Given the description of an element on the screen output the (x, y) to click on. 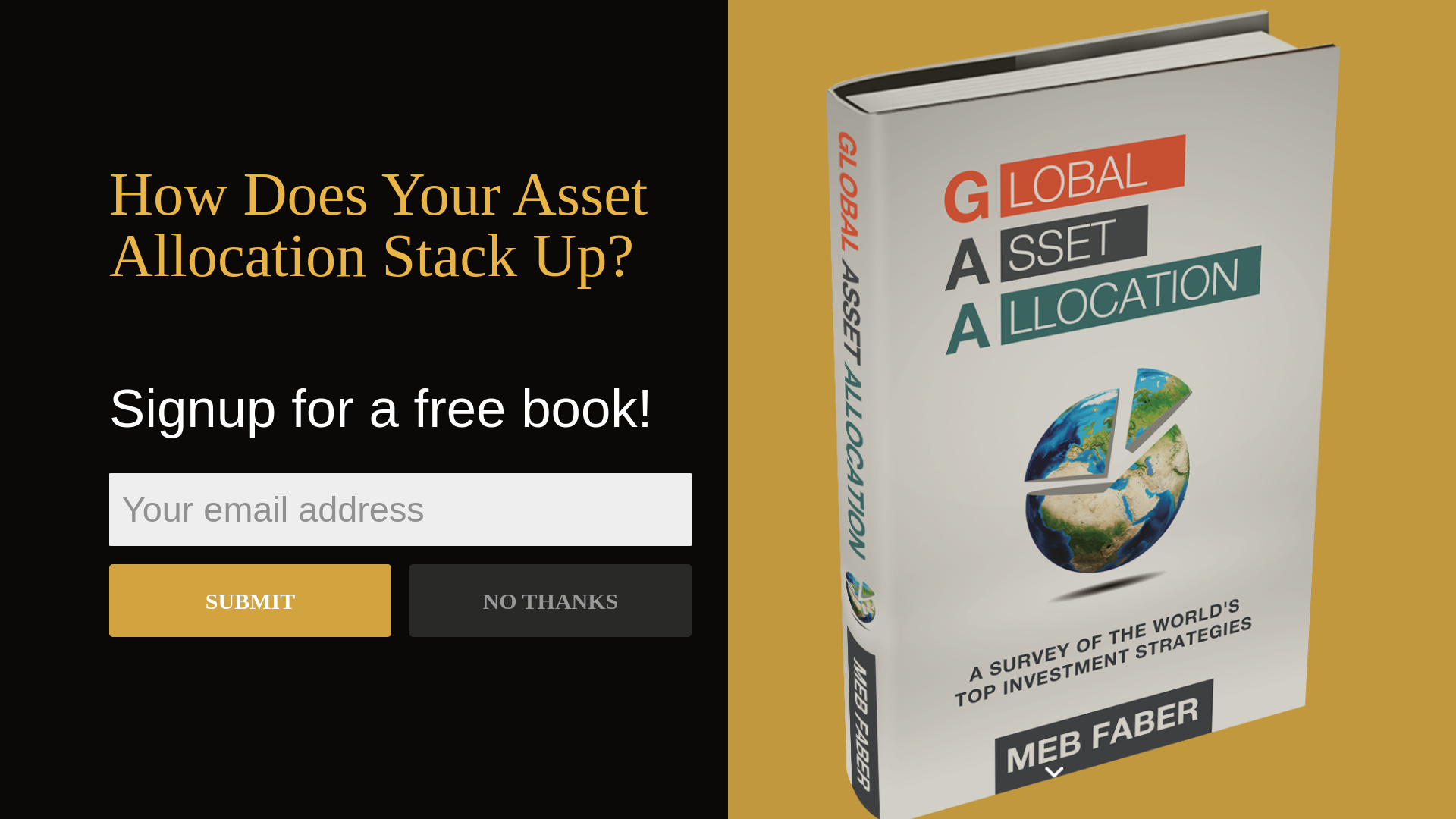
NO THANKS (527, 594)
SUBMIT (226, 594)
